Given the description of an element on the screen output the (x, y) to click on. 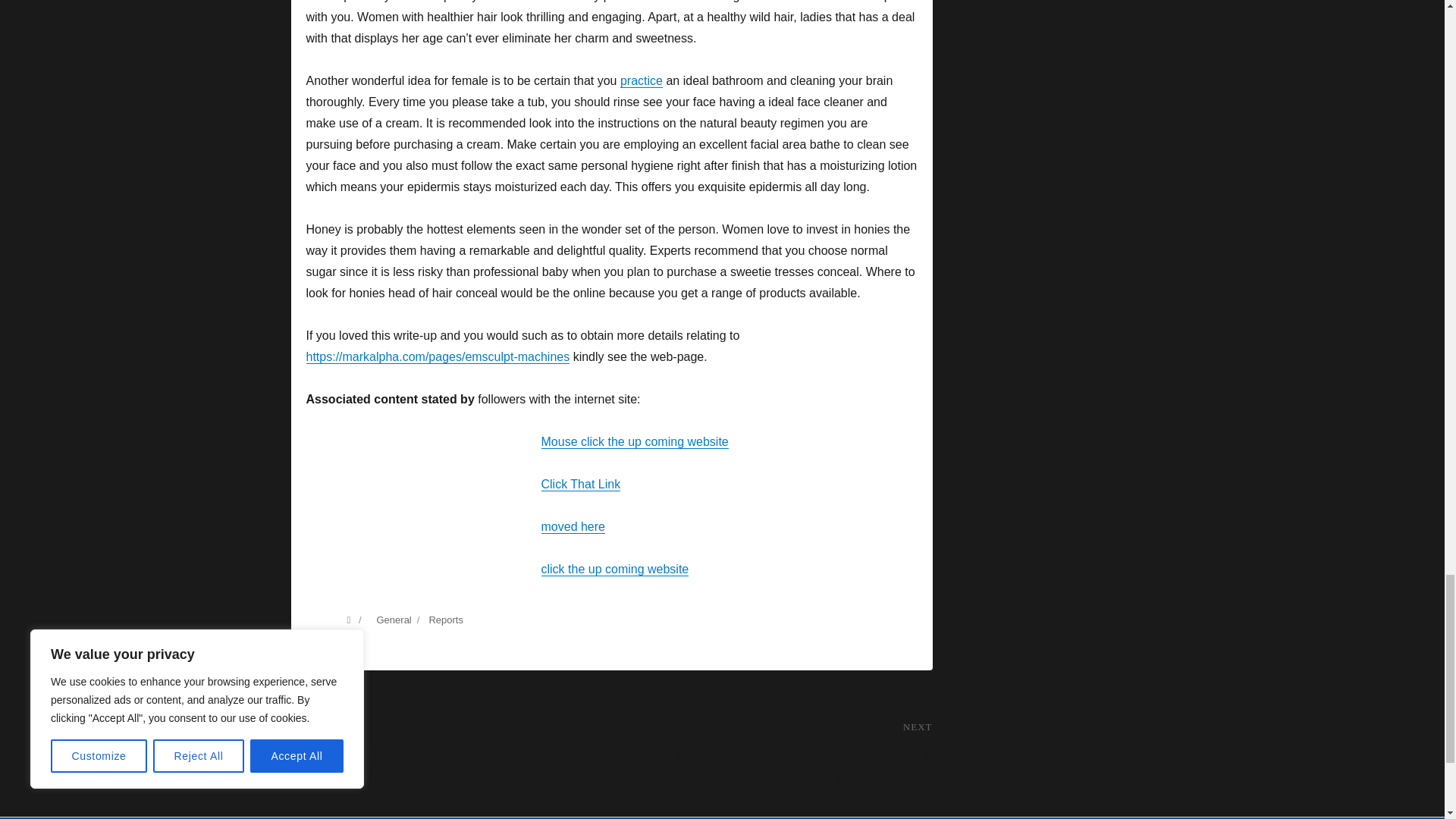
click the up coming website (614, 568)
Reports (445, 619)
moved here (573, 526)
Mouse click the up coming website (635, 440)
Click That Link (581, 483)
General (392, 619)
practice (641, 80)
